Given the description of an element on the screen output the (x, y) to click on. 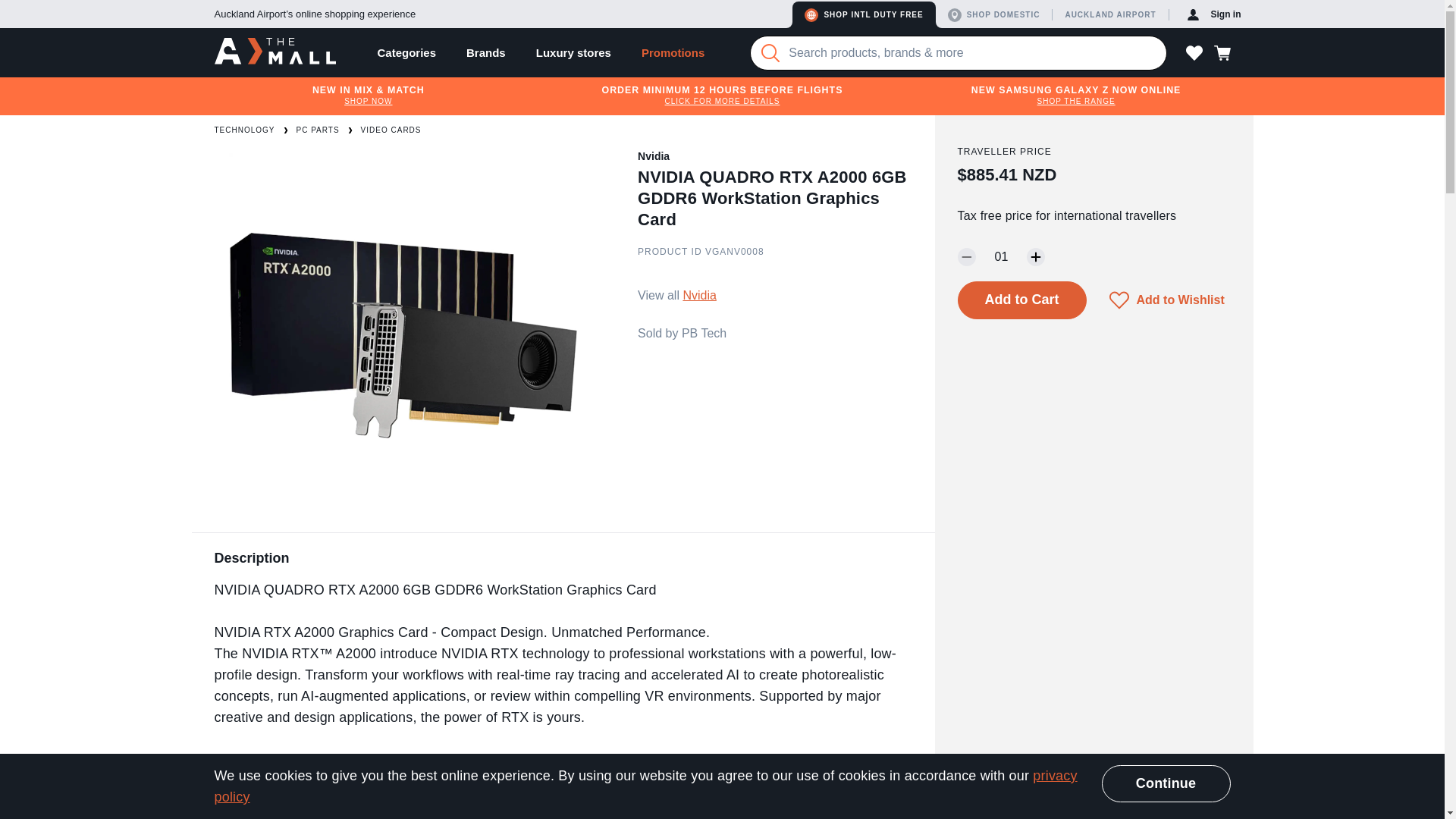
SHOP INTL DUTY FREE (863, 14)
SHOP DOMESTIC (997, 14)
Categories (406, 51)
Sign in (1213, 14)
AUCKLAND AIRPORT (1112, 14)
